Given the description of an element on the screen output the (x, y) to click on. 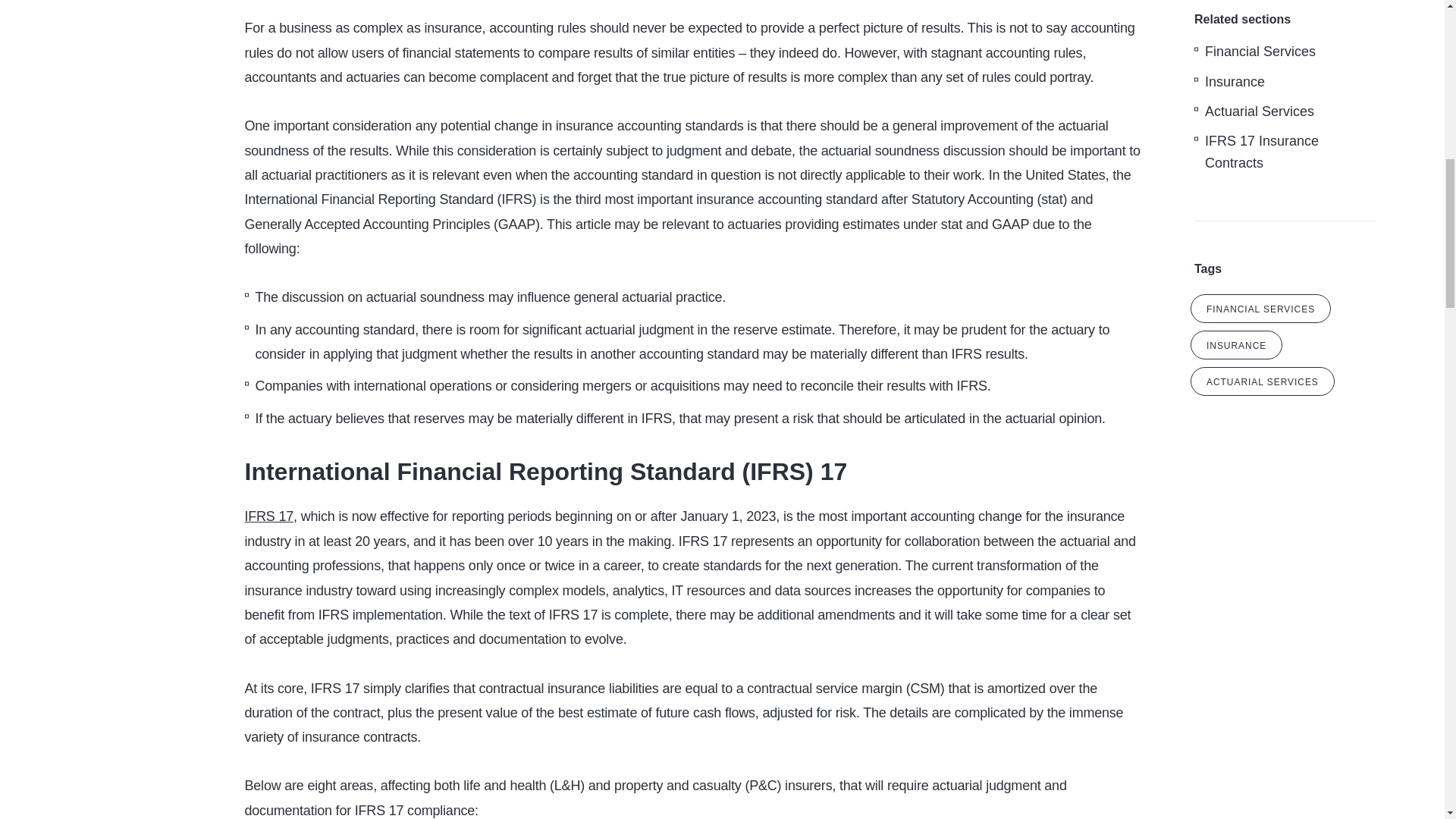
FINANCIAL SERVICES (1260, 308)
INSURANCE (1236, 344)
Insurance (1235, 81)
IFRS 17 Insurance Contracts (1262, 152)
Financial Services (1260, 51)
ACTUARIAL SERVICES (1263, 380)
IFRS 17 (269, 516)
Actuarial Services (1259, 111)
